Given the description of an element on the screen output the (x, y) to click on. 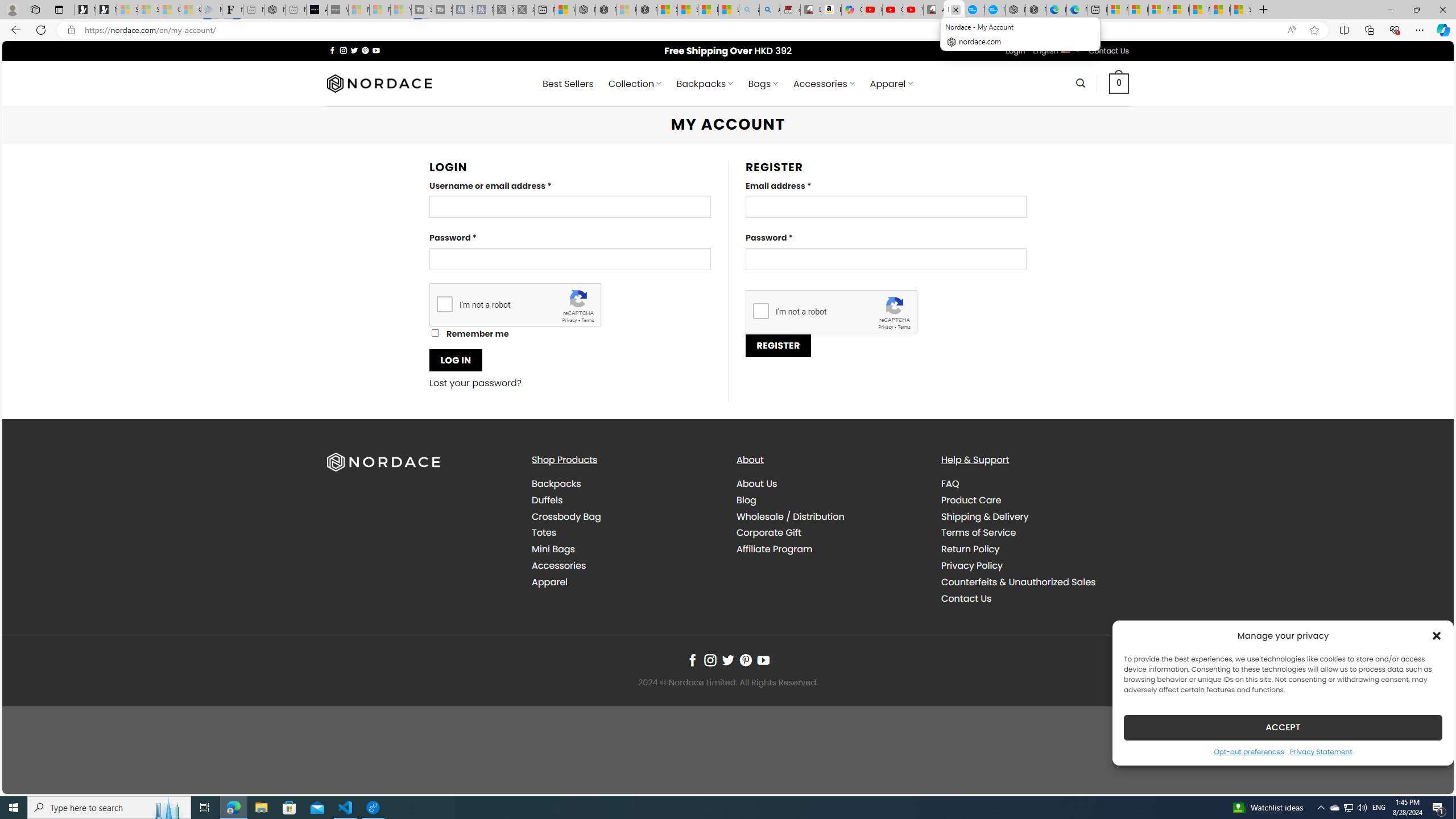
Nordace - #1 Japanese Best-Seller - Siena Smart Backpack (274, 9)
Contact Us (965, 598)
Crossbody Bag (625, 516)
Privacy Statement (1321, 750)
Counterfeits & Unauthorized Sales (1018, 581)
About Us (830, 483)
Return Policy (970, 549)
Login (1015, 50)
